Given the description of an element on the screen output the (x, y) to click on. 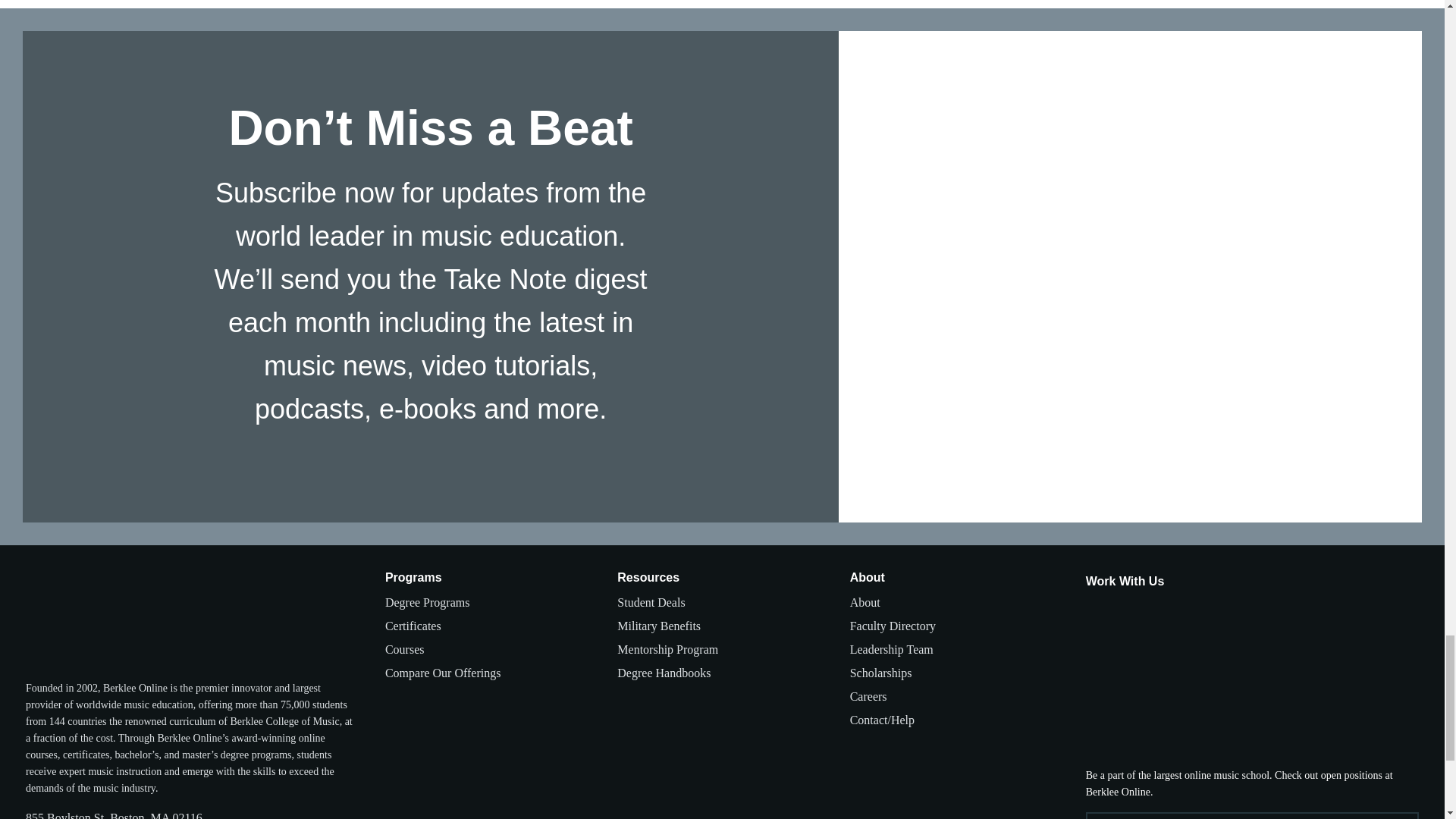
Courses (405, 649)
Military Benefits (658, 626)
Student Deals (650, 602)
Degree Programs (427, 602)
Mentorship Program (667, 649)
Certificates (413, 626)
Compare Our Offerings (442, 673)
